Given the description of an element on the screen output the (x, y) to click on. 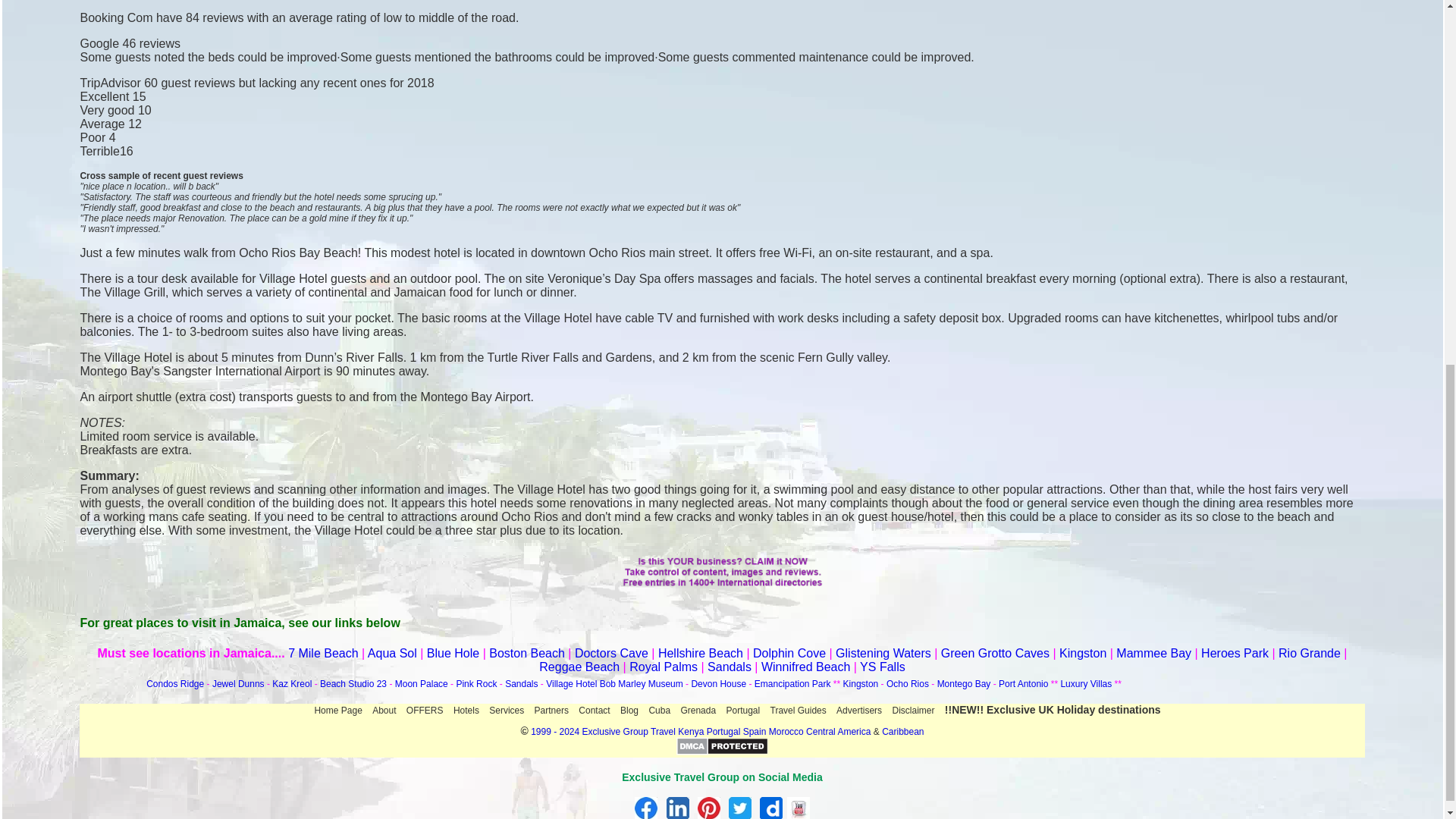
Doctors Cave (611, 653)
Hellshire Beach (700, 653)
Aqua Sol (394, 653)
7 Mile Beach (323, 653)
Blue Hole (452, 653)
Boston Beach (526, 653)
